Given the description of an element on the screen output the (x, y) to click on. 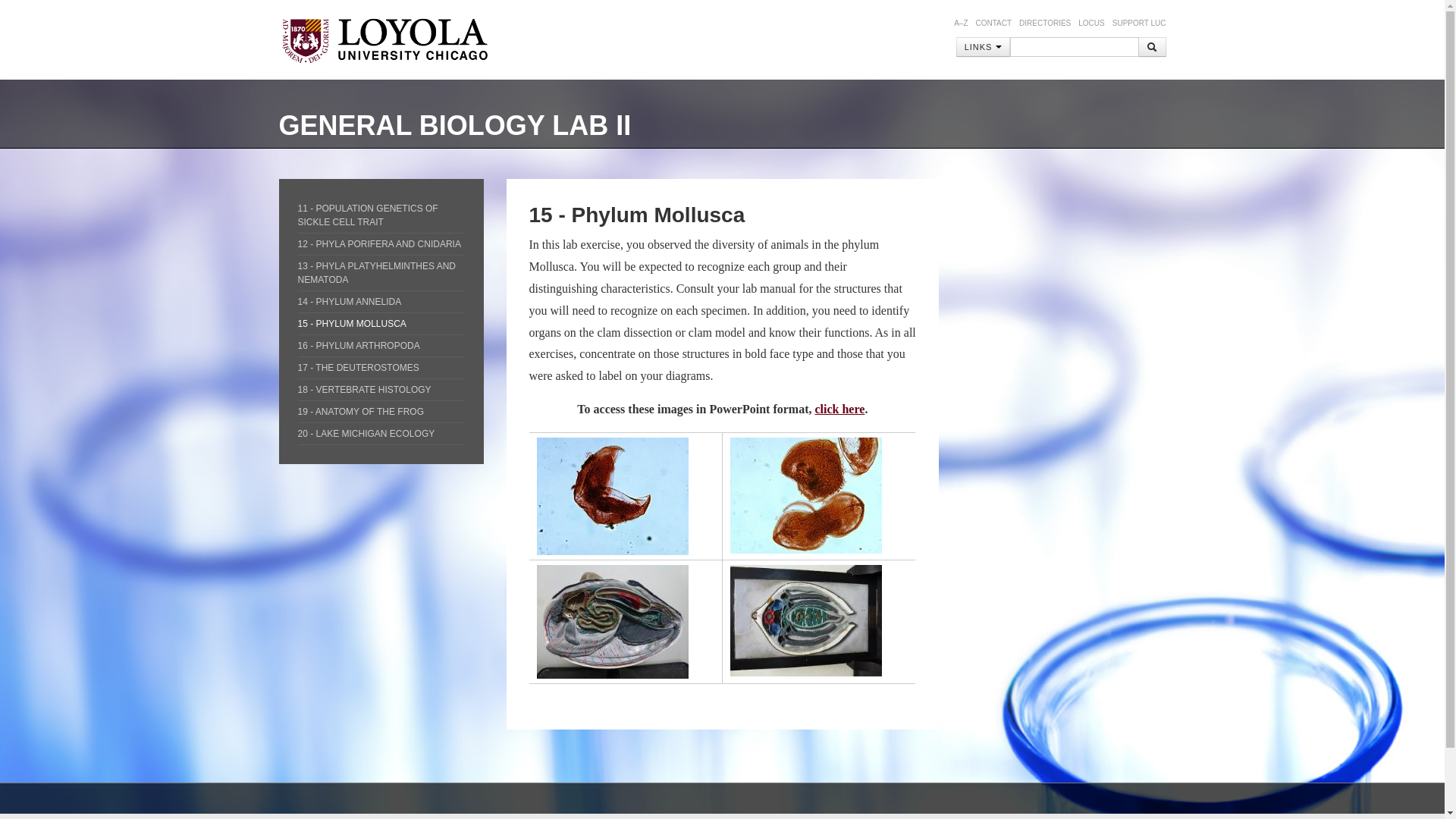
LINKS (983, 46)
CONTACT (993, 22)
LOCUS (1090, 22)
SUPPORT LUC (1139, 22)
DIRECTORIES (1044, 22)
Search Field (1074, 46)
